Given the description of an element on the screen output the (x, y) to click on. 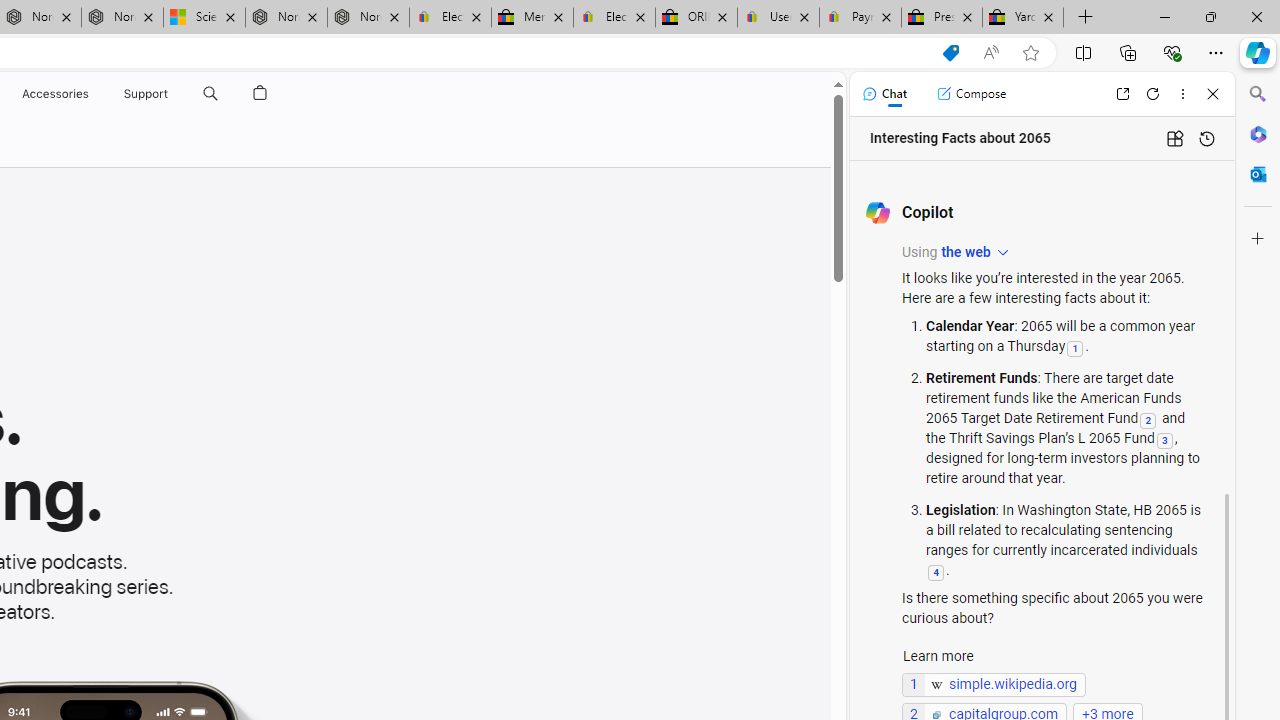
User Privacy Notice | eBay (778, 17)
Yard, Garden & Outdoor Living (1023, 17)
Class: globalnav-submenu-trigger-item (172, 93)
AutomationID: globalnav-bag (260, 93)
Accessories (54, 93)
Accessories (54, 93)
Class: globalnav-item globalnav-search shift-0-1 (210, 93)
